Given the description of an element on the screen output the (x, y) to click on. 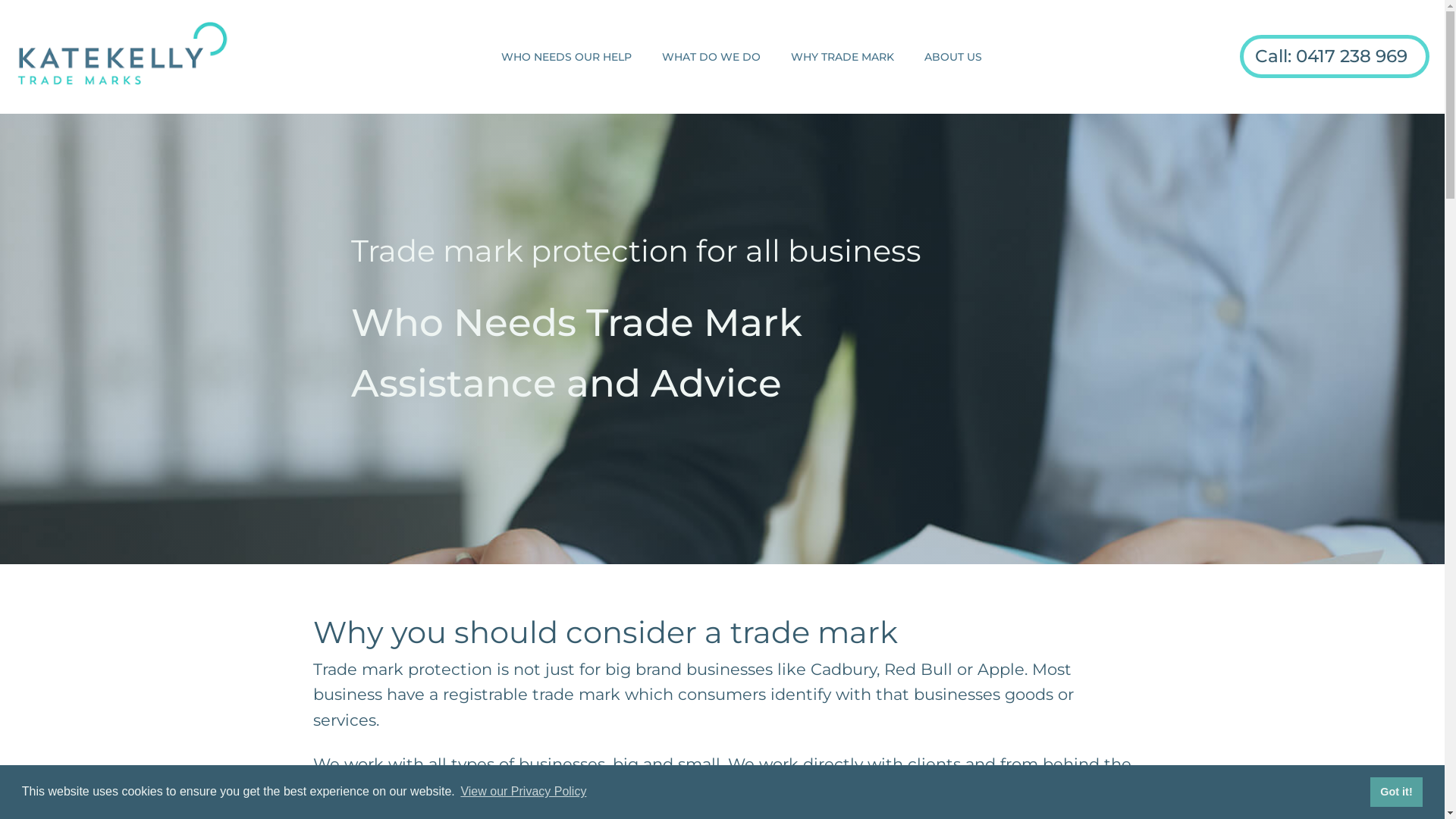
ABOUT US Element type: text (952, 56)
WHO NEEDS OUR HELP Element type: text (565, 56)
WHAT DO WE DO Element type: text (710, 56)
Call: 0417 238 969 Element type: text (1334, 56)
Got it! Element type: text (1396, 791)
View our Privacy Policy Element type: text (523, 791)
WHY TRADE MARK Element type: text (841, 56)
